Given the description of an element on the screen output the (x, y) to click on. 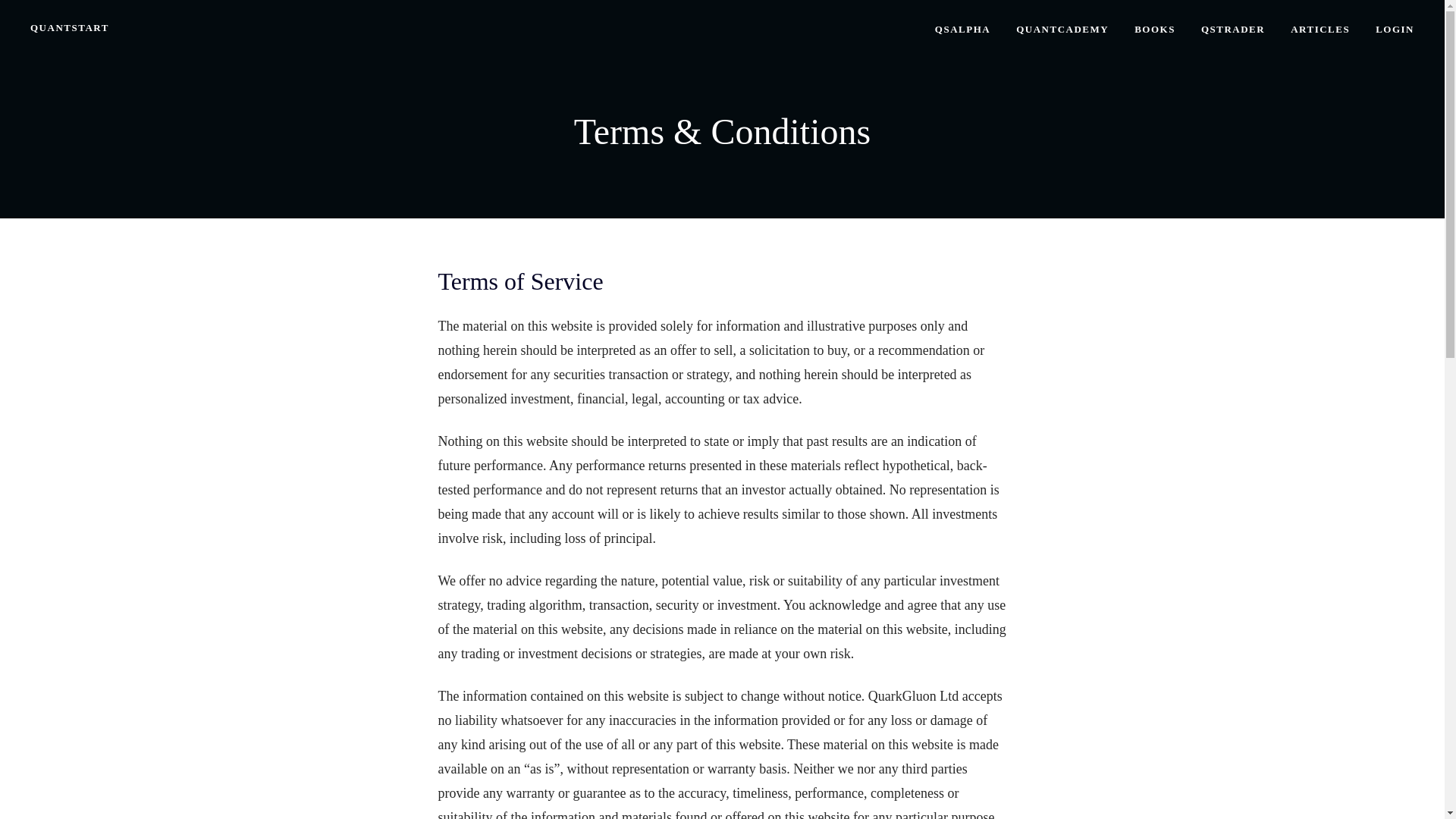
ARTICLES (1319, 29)
LOGIN (1394, 29)
QSTRADER (1233, 29)
QSALPHA (962, 29)
QUANTCADEMY (1062, 29)
BOOKS (1154, 29)
QUANTSTART (69, 27)
